Given the description of an element on the screen output the (x, y) to click on. 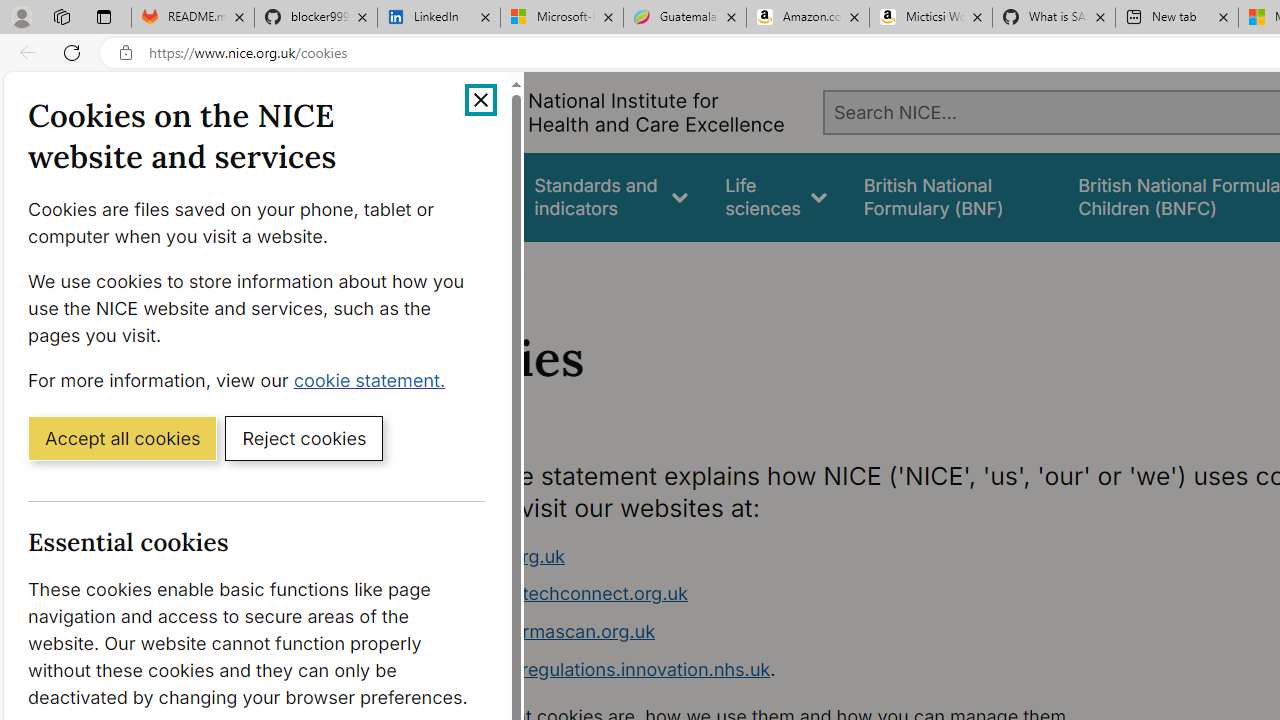
Reject cookies (304, 437)
www.ukpharmascan.org.uk (796, 632)
www.ukpharmascan.org.uk (538, 631)
LinkedIn (438, 17)
www.digitalregulations.innovation.nhs.uk (595, 668)
Guidance (458, 196)
Home> (433, 268)
